Given the description of an element on the screen output the (x, y) to click on. 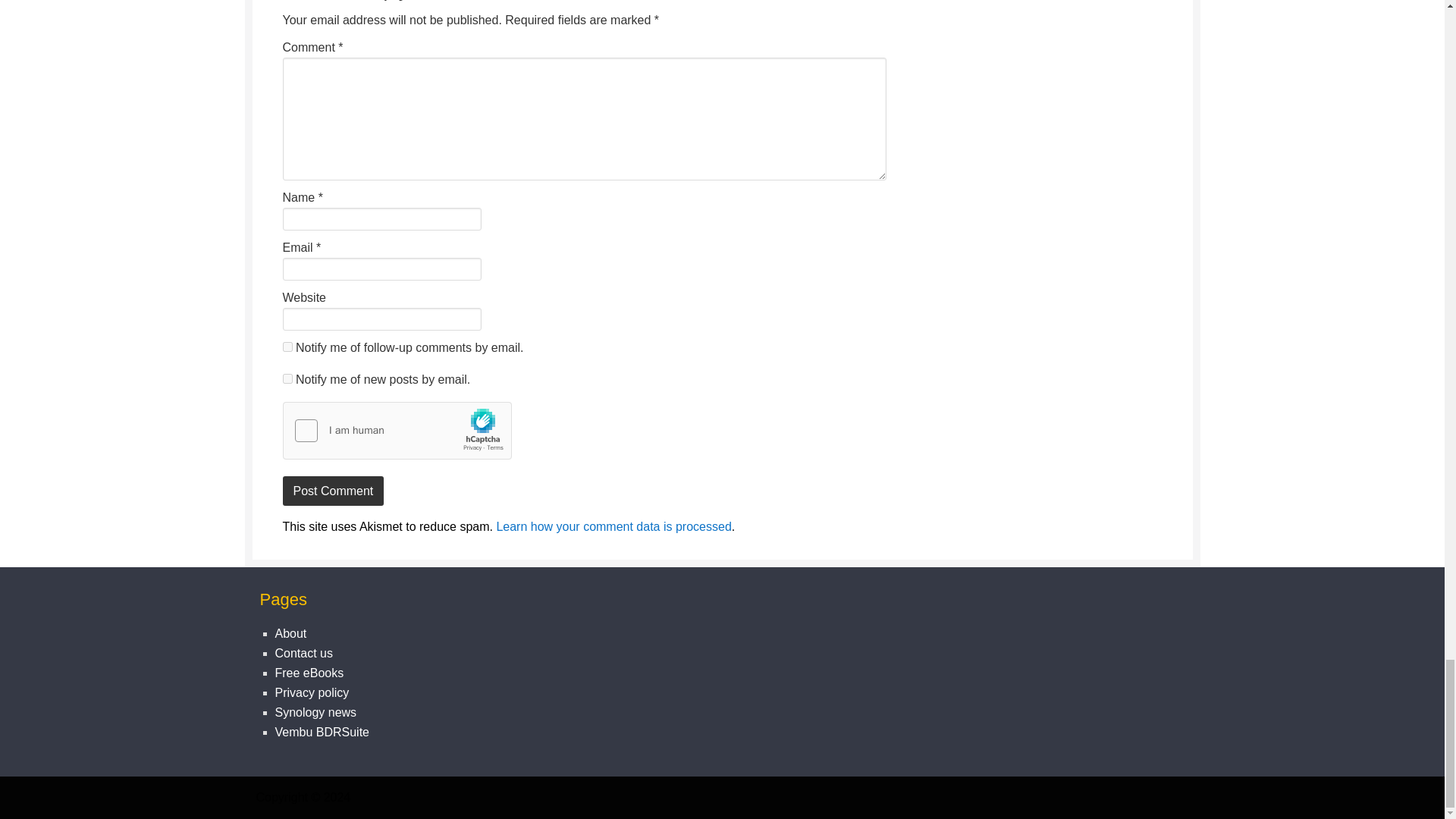
About (290, 633)
Contact us (303, 653)
Widget containing checkbox for hCaptcha security challenge (397, 431)
Vembu BDRSuite (322, 731)
Post Comment (333, 490)
Learn how your comment data is processed (613, 526)
Synology news (315, 712)
subscribe (287, 347)
Privacy policy (312, 692)
Free eBooks (309, 672)
Post Comment (333, 490)
subscribe (287, 378)
